Given the description of an element on the screen output the (x, y) to click on. 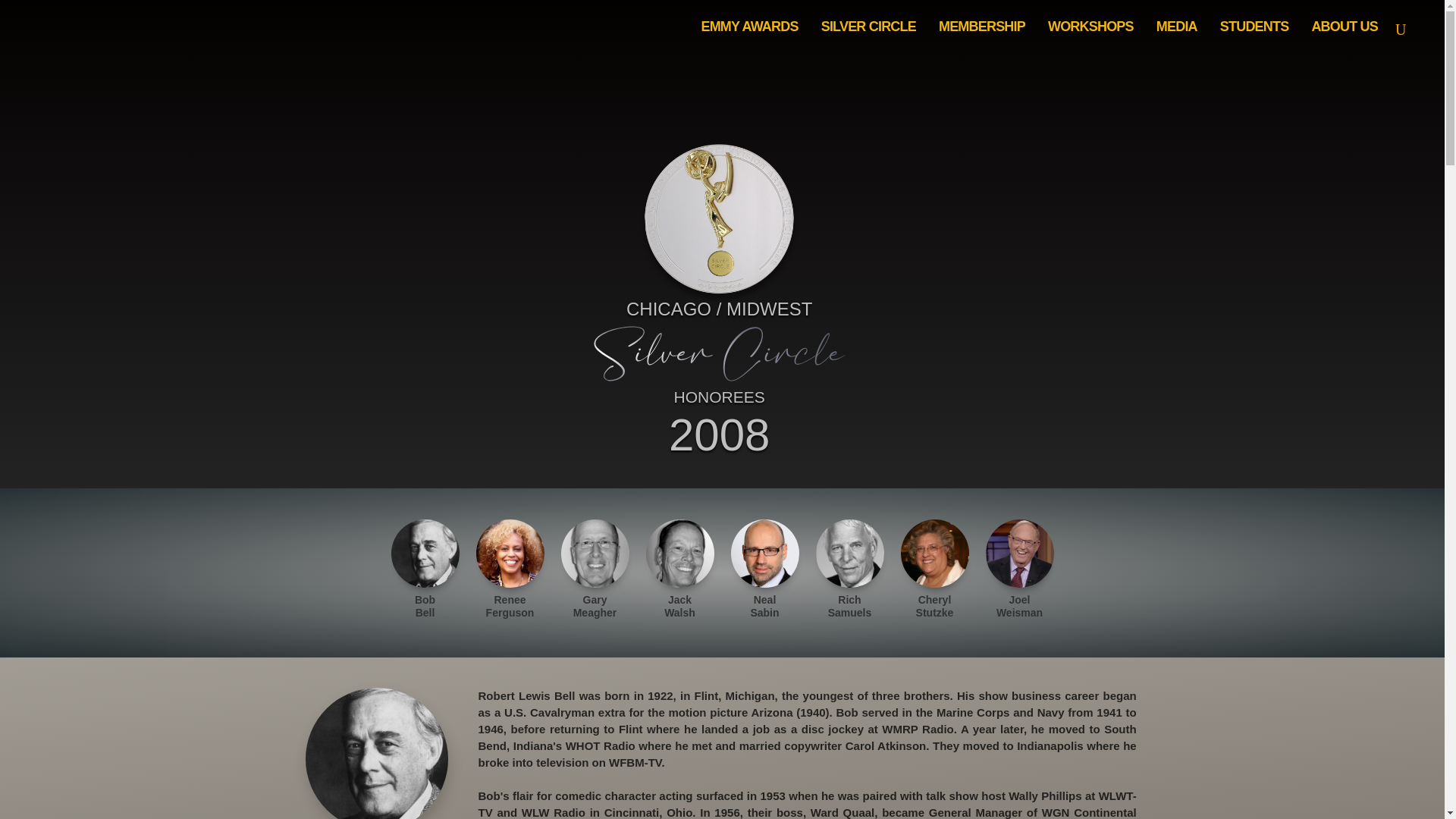
EMMY AWARDS (748, 26)
ABOUT US (1344, 26)
WORKSHOPS (1090, 26)
MEDIA (1176, 26)
STUDENTS (1254, 26)
SILVER CIRCLE (868, 26)
MEMBERSHIP (981, 26)
